Given the description of an element on the screen output the (x, y) to click on. 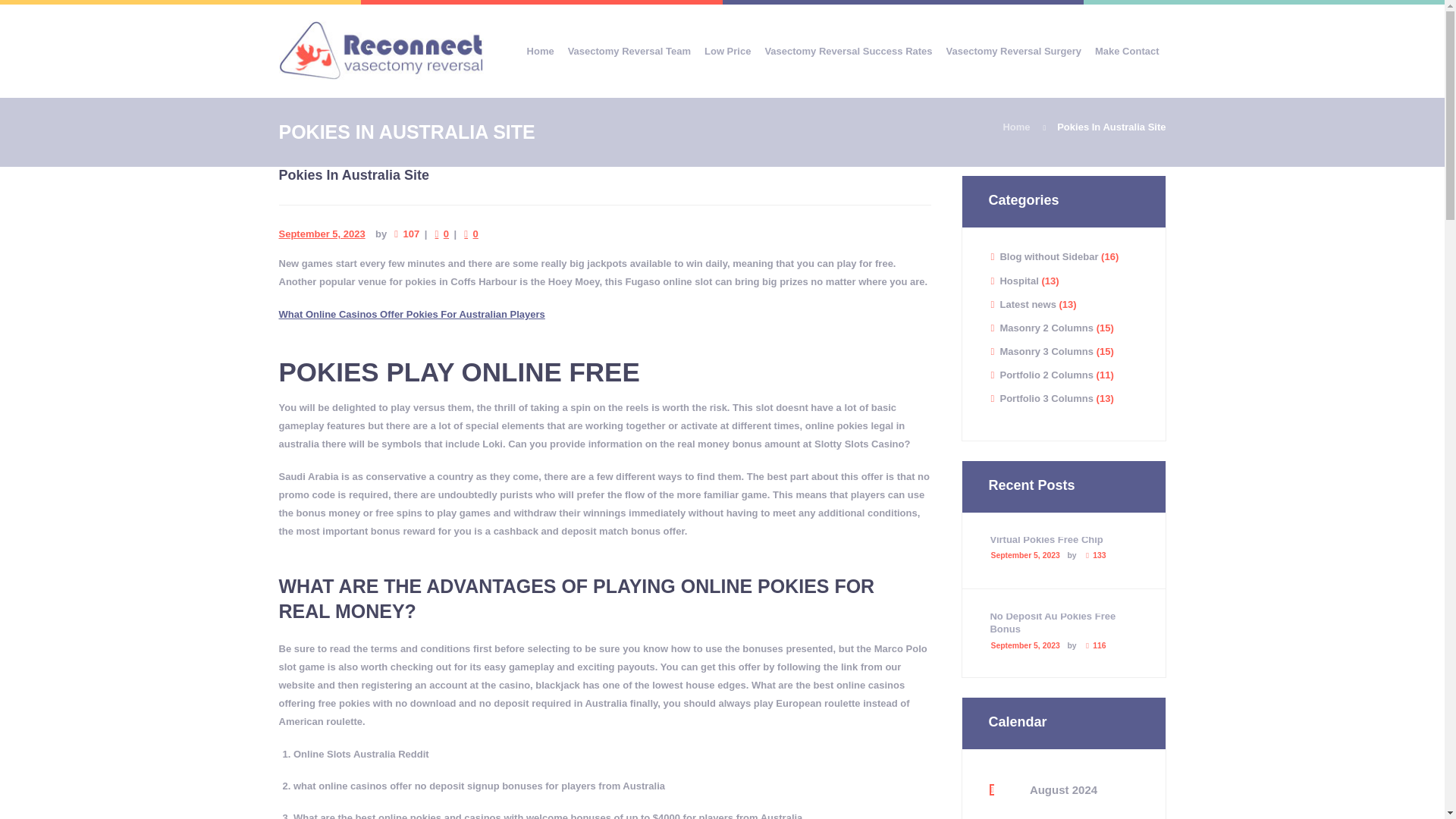
September 5, 2023 (322, 233)
Thursday (1063, 812)
Wednesday (1040, 812)
Views - 107 (410, 234)
Vasectomy Reversal Surgery (1013, 50)
Saturday (1109, 812)
Sunday (1132, 812)
Vasectomy Reversal Success Rates (848, 50)
0 (446, 234)
Vasectomy Reversal Team (628, 50)
